Given the description of an element on the screen output the (x, y) to click on. 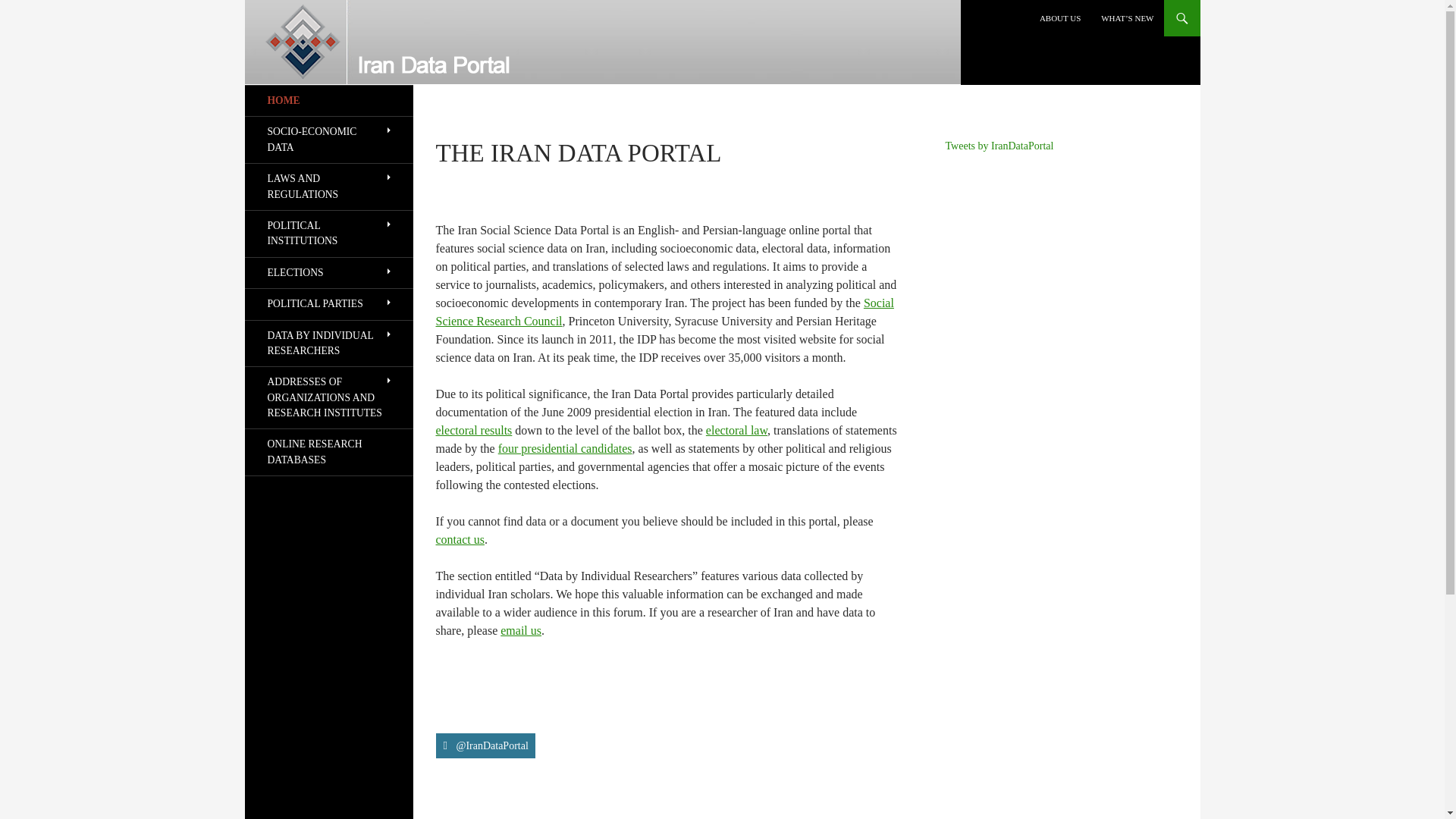
four presidential candidates (564, 448)
HOME (328, 100)
contact us (459, 539)
email us (520, 630)
Tweets by IranDataPortal (999, 145)
electoral results (473, 430)
SOCIO-ECONOMIC DATA (328, 139)
electoral law (736, 430)
ABOUT US (1060, 18)
Social Science Research Council (664, 311)
